Given the description of an element on the screen output the (x, y) to click on. 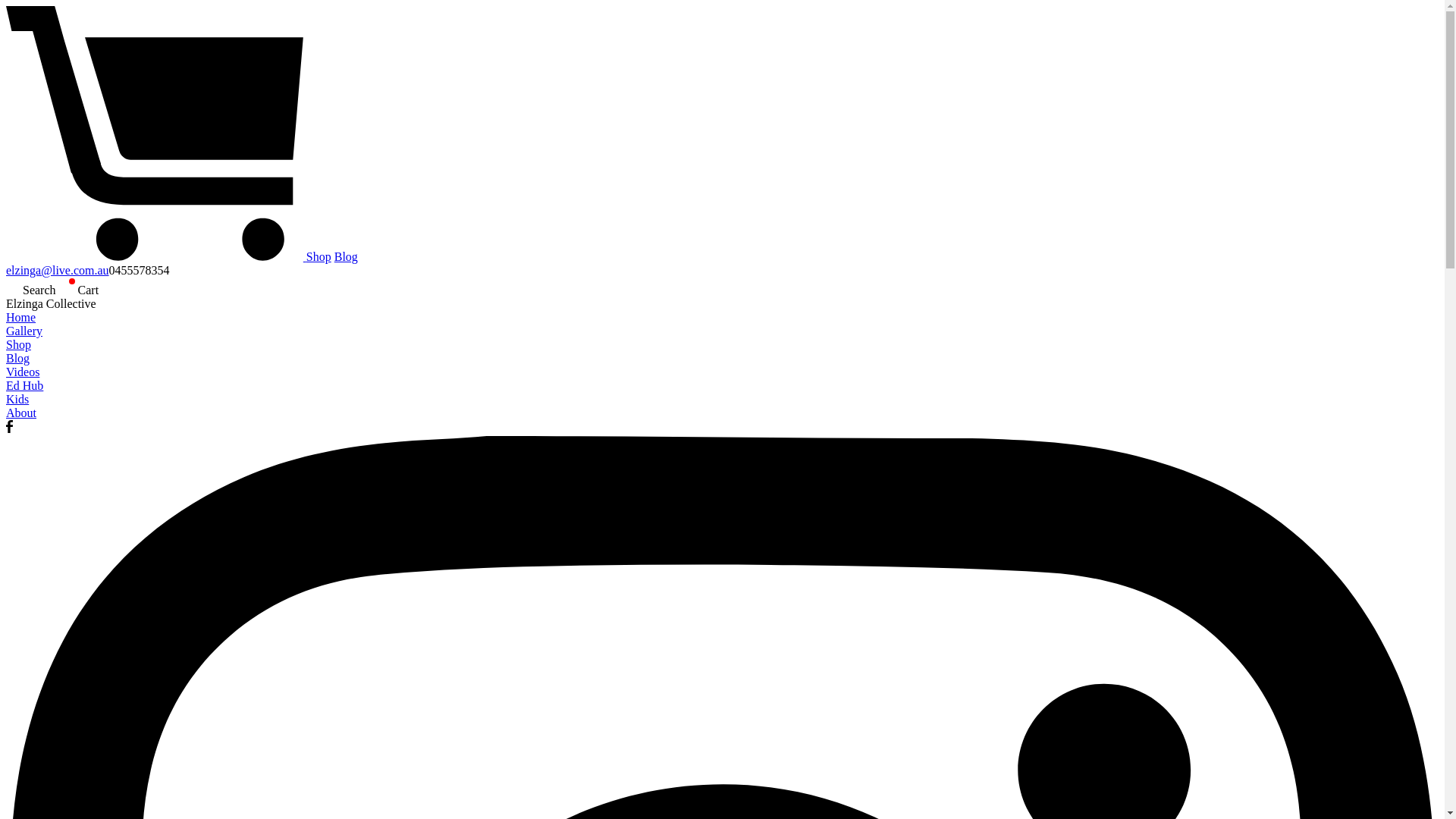
Blog Element type: text (722, 358)
Shop Element type: text (318, 256)
Blog Element type: text (345, 256)
Ed Hub Element type: text (722, 385)
Kids Element type: text (722, 399)
Cart Element type: text (77, 289)
Search Element type: text (31, 289)
Shop Element type: text (722, 344)
A link to this website's Facebook. Element type: hover (9, 428)
Home Element type: text (722, 317)
Videos Element type: text (722, 372)
Gallery Element type: text (722, 331)
About Element type: text (722, 413)
elzinga@live.com.au Element type: text (57, 269)
